Given the description of an element on the screen output the (x, y) to click on. 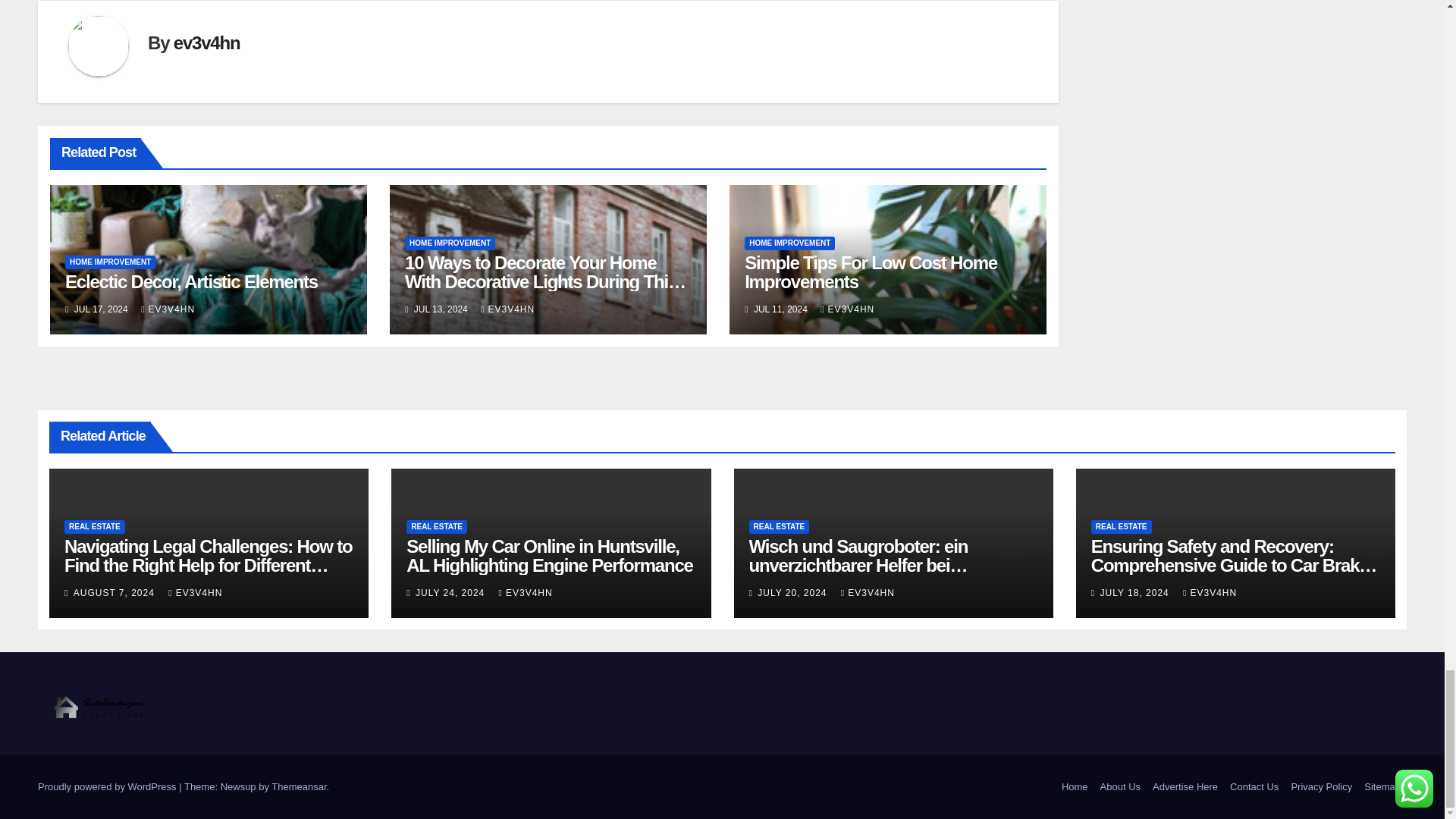
Permalink to: Simple Tips For Low Cost Home Improvements (870, 271)
Permalink to: Eclectic Decor, Artistic Elements (191, 281)
